Given the description of an element on the screen output the (x, y) to click on. 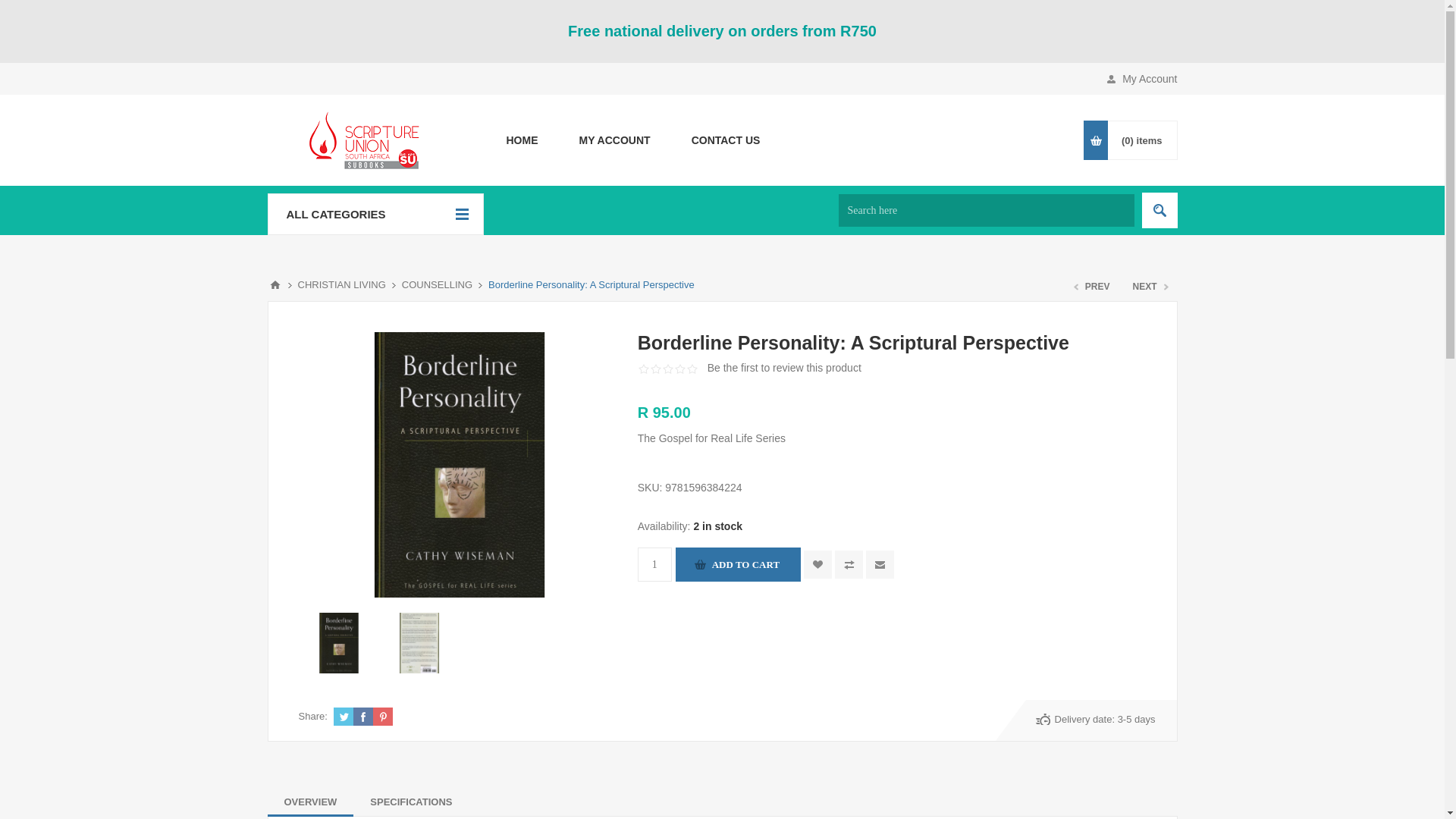
Home (520, 139)
HOME (520, 139)
MY ACCOUNT (613, 139)
My Account (613, 139)
1 (654, 564)
